Given the description of an element on the screen output the (x, y) to click on. 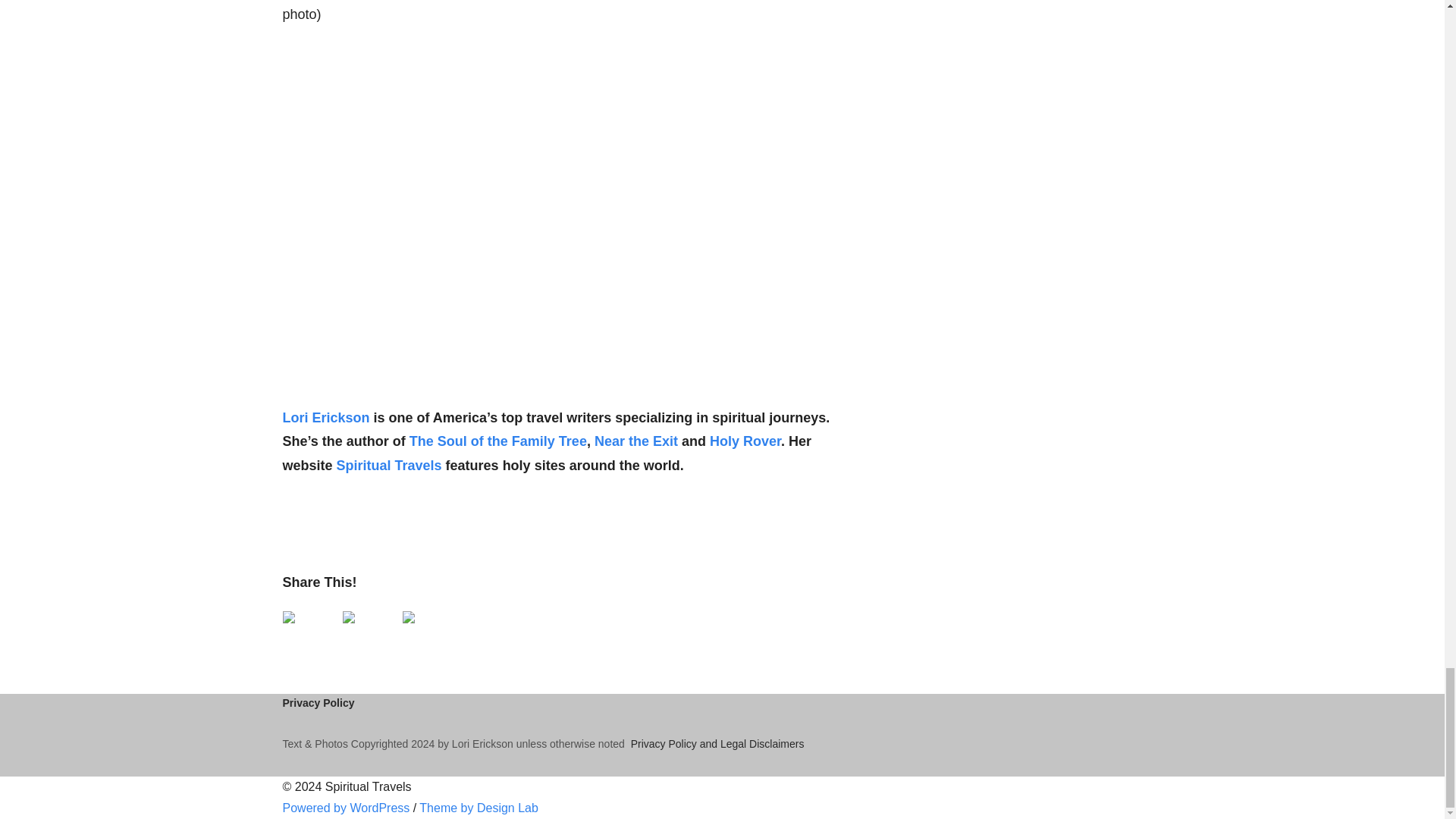
The Soul of the Family Tree (497, 441)
Pin it with Pinterest (407, 616)
Lori Erickson (325, 417)
Share on Twitter (348, 616)
Share on Twitter (366, 635)
Share on Facebook (288, 616)
Holy Rover (745, 441)
Pin it with Pinterest (425, 635)
Spiritual Travels (389, 465)
Share on Facebook (306, 635)
Near the Exit (636, 441)
